Given the description of an element on the screen output the (x, y) to click on. 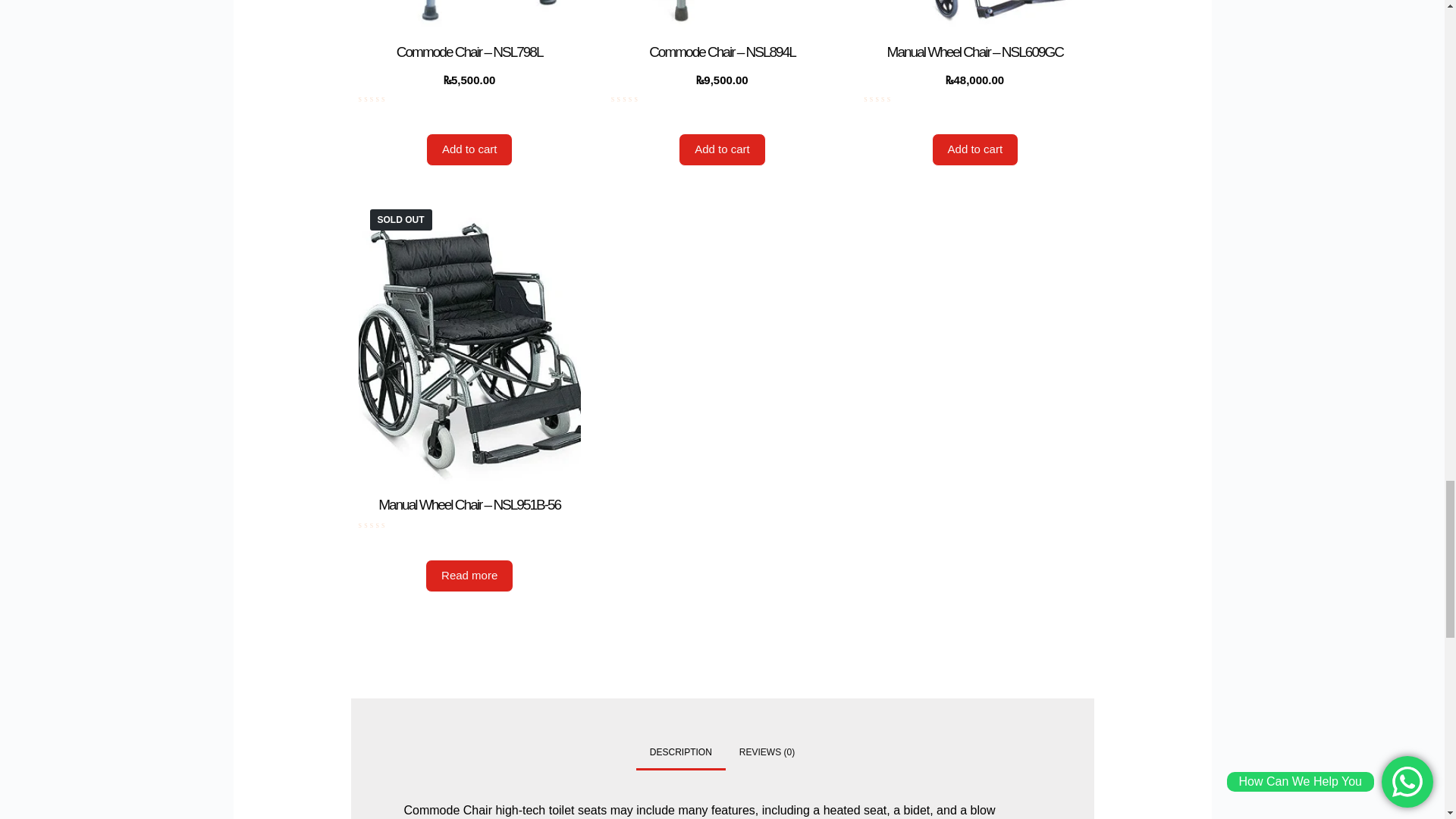
fs609GC-1.jpg (974, 20)
FS894L-1.jpg (721, 20)
FS-951-B-56-600x7001-1-1.jpg (468, 346)
FS798L-1.jpg (468, 20)
